Given the description of an element on the screen output the (x, y) to click on. 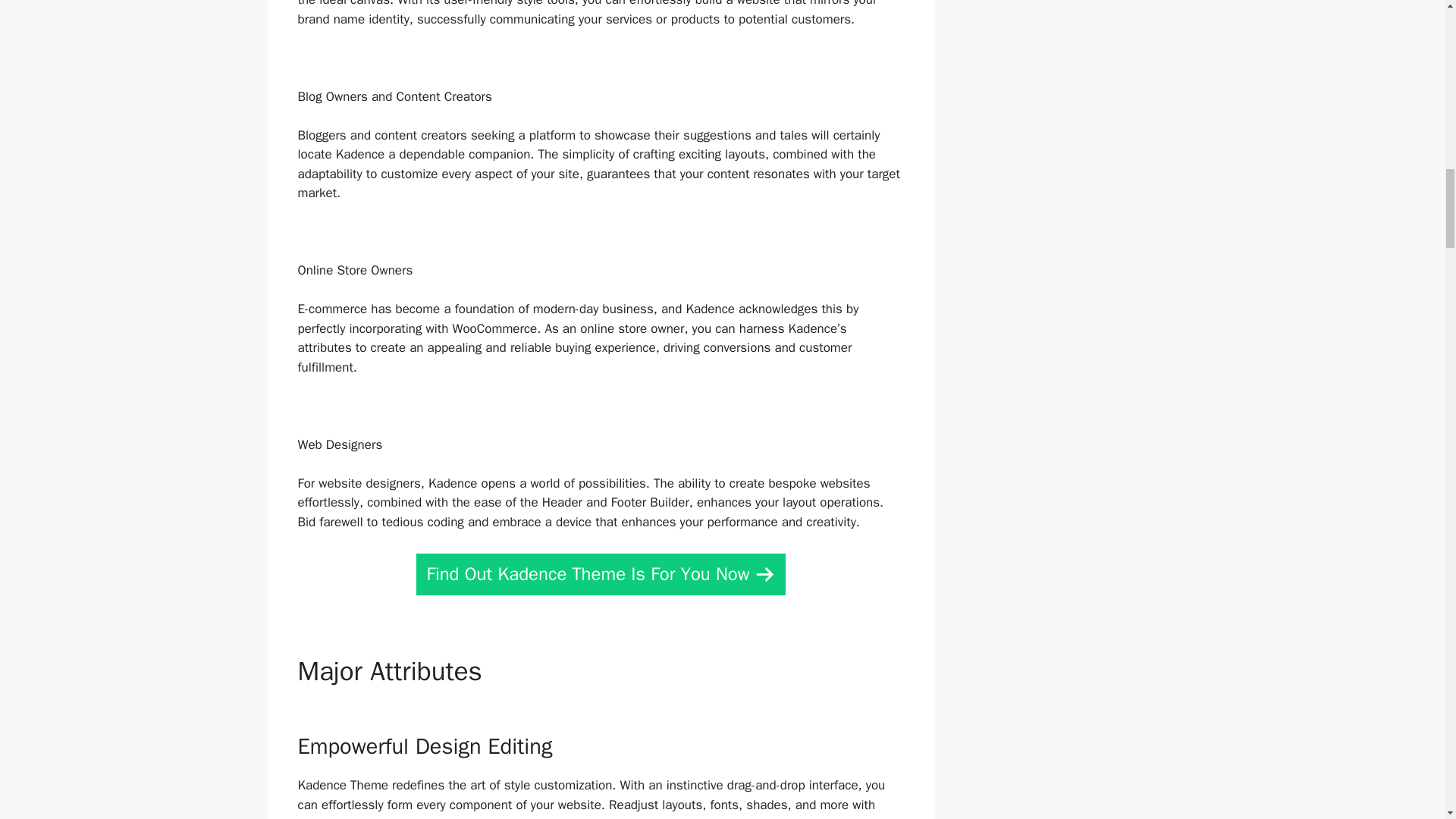
Find Out Kadence Theme Is For You Now (600, 574)
